Given the description of an element on the screen output the (x, y) to click on. 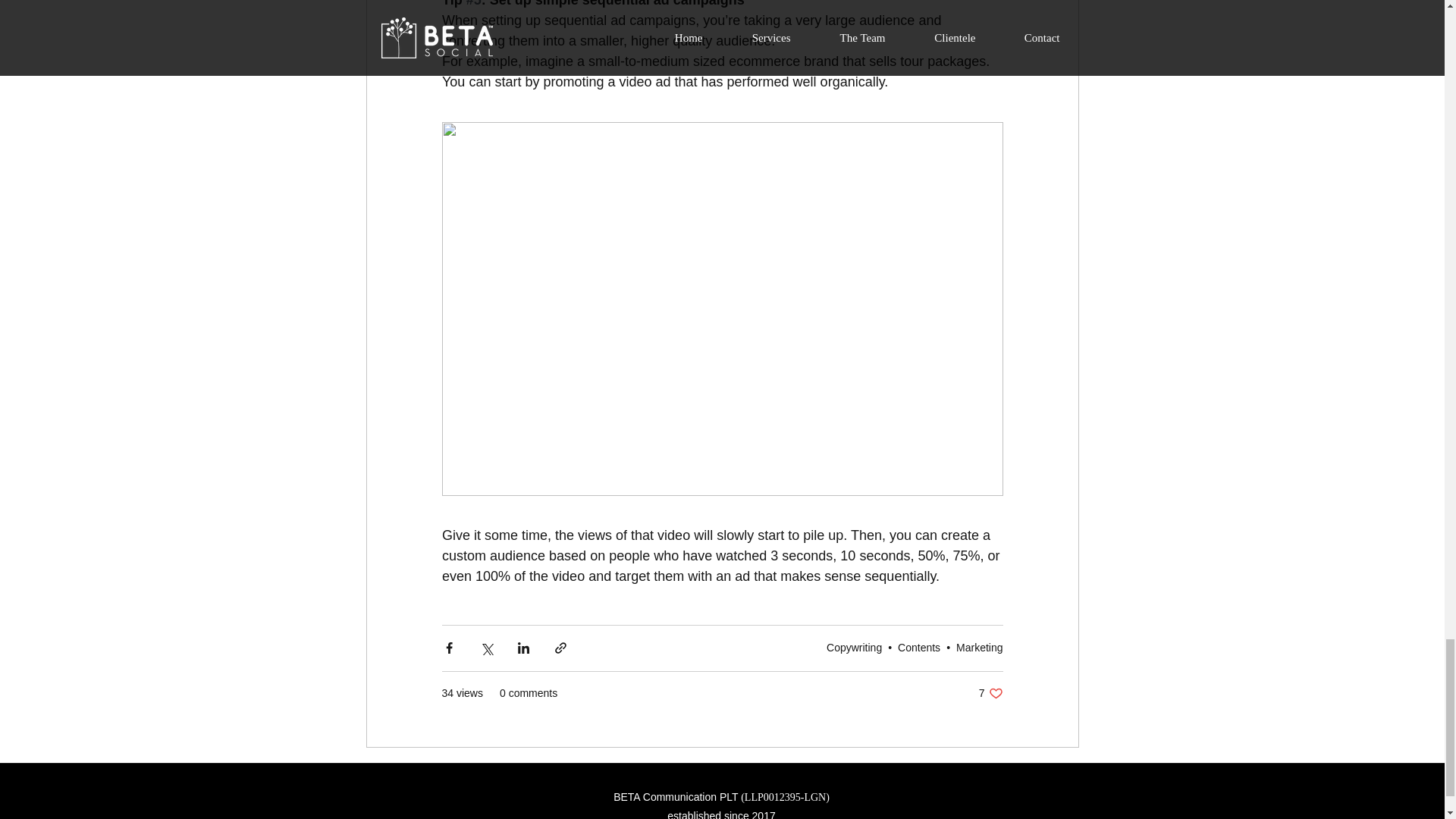
Contents (990, 693)
Marketing (919, 647)
Copywriting (979, 647)
